Given the description of an element on the screen output the (x, y) to click on. 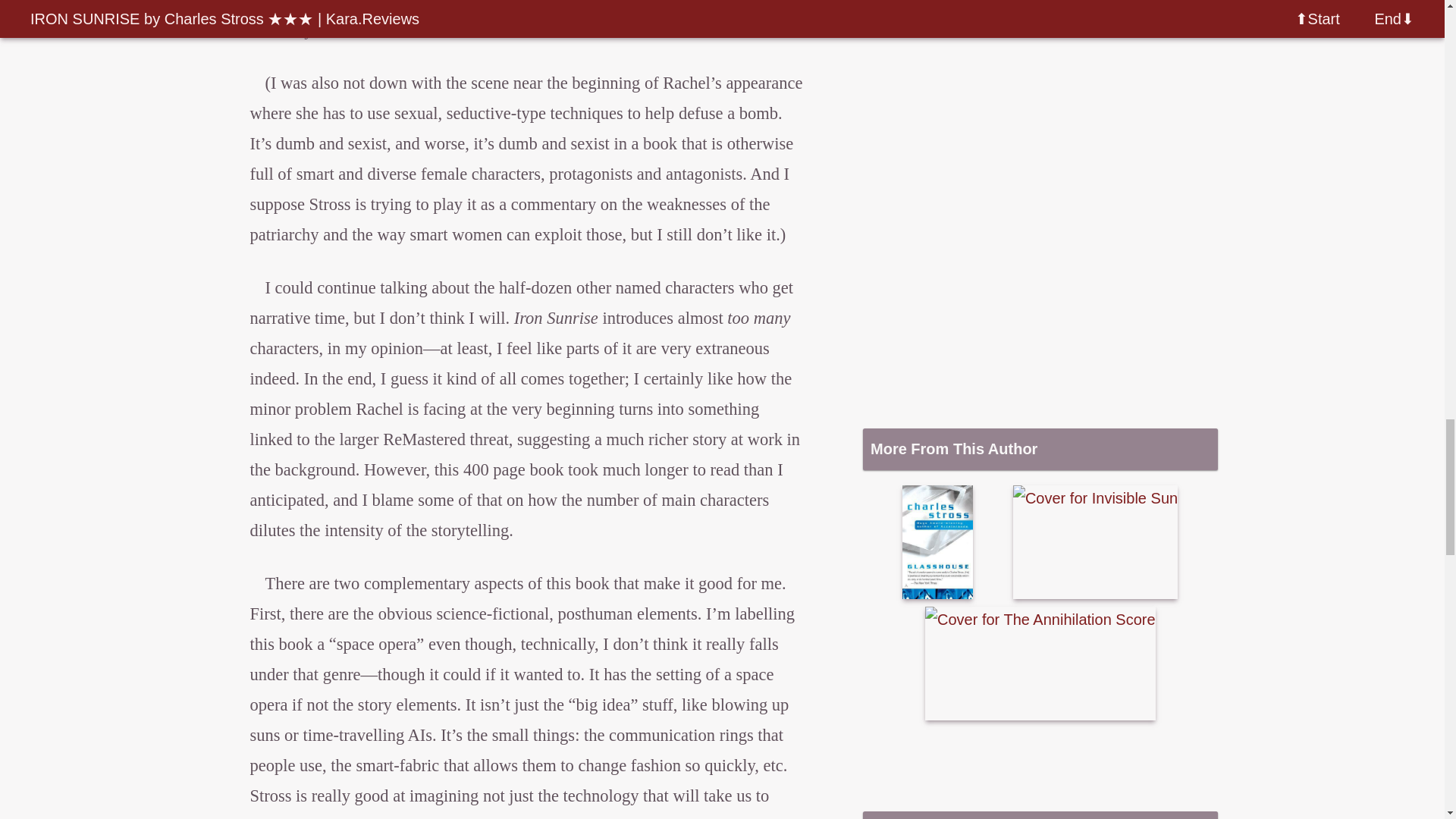
Invisible Sun by Charles Stross (1095, 541)
The Annihilation Score by Charles Stross (1040, 663)
